Given the description of an element on the screen output the (x, y) to click on. 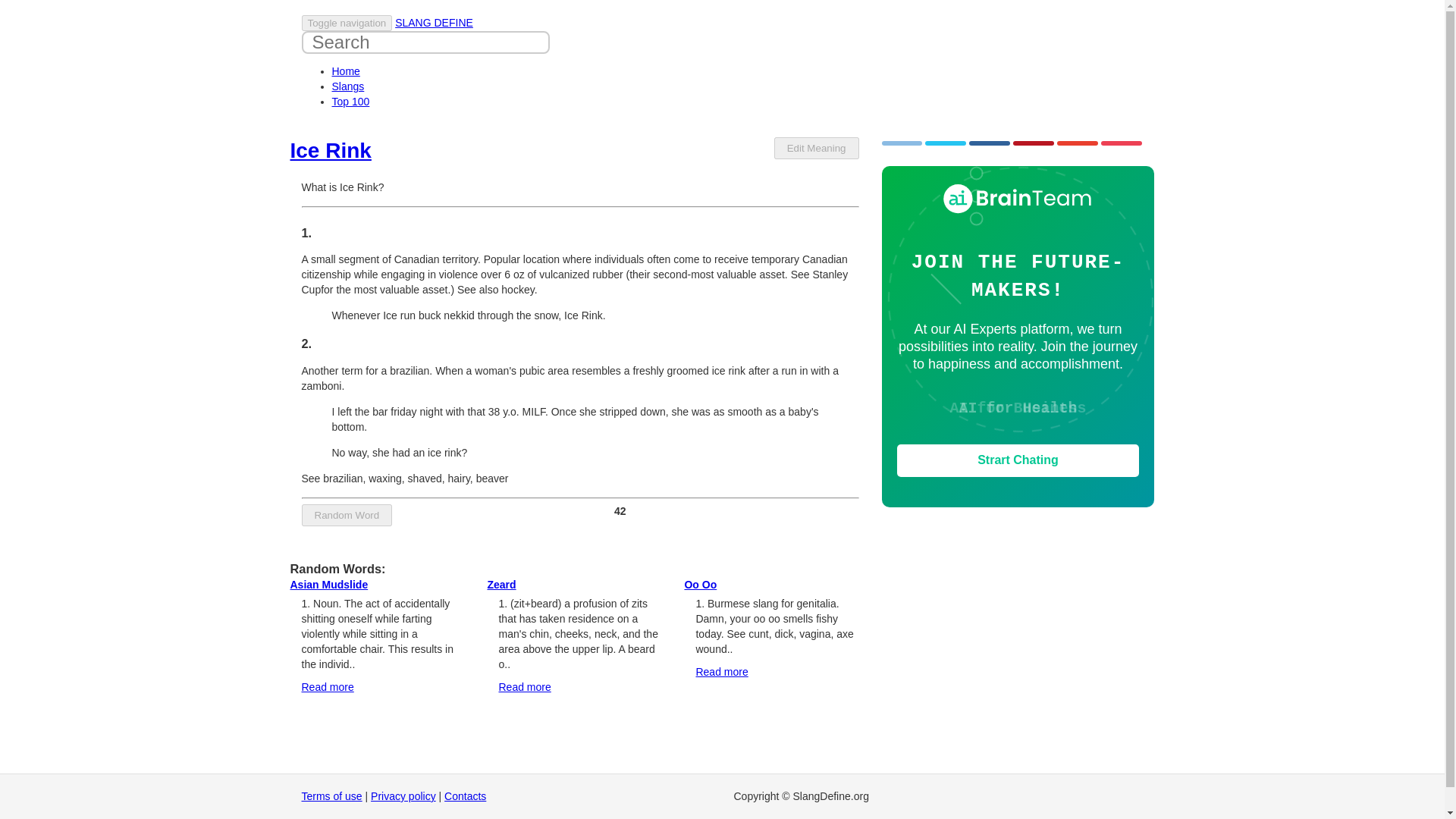
Home (345, 70)
Privacy policy (403, 796)
Random Word (347, 515)
Read more (721, 671)
Zeard (500, 584)
Toggle navigation (347, 23)
Asian Mudslide (328, 584)
Strart Chating (1017, 460)
Top 100 (350, 101)
Edit Meaning (816, 147)
